Given the description of an element on the screen output the (x, y) to click on. 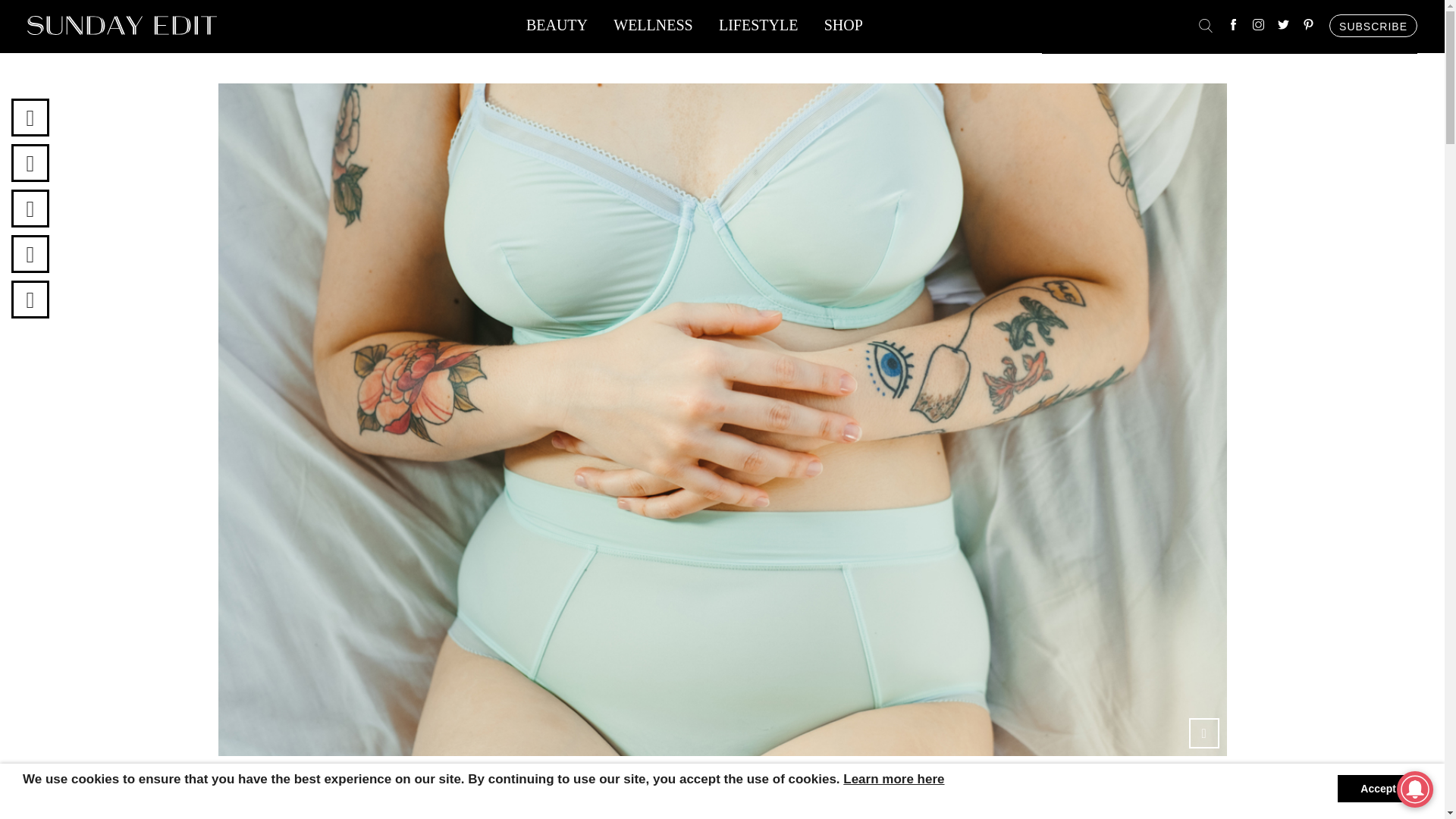
Skin (277, 817)
SUBSCRIBE (1372, 25)
Beauty (234, 817)
LIFESTYLE (758, 28)
BEAUTY (556, 28)
WELLNESS (652, 28)
